Given the description of an element on the screen output the (x, y) to click on. 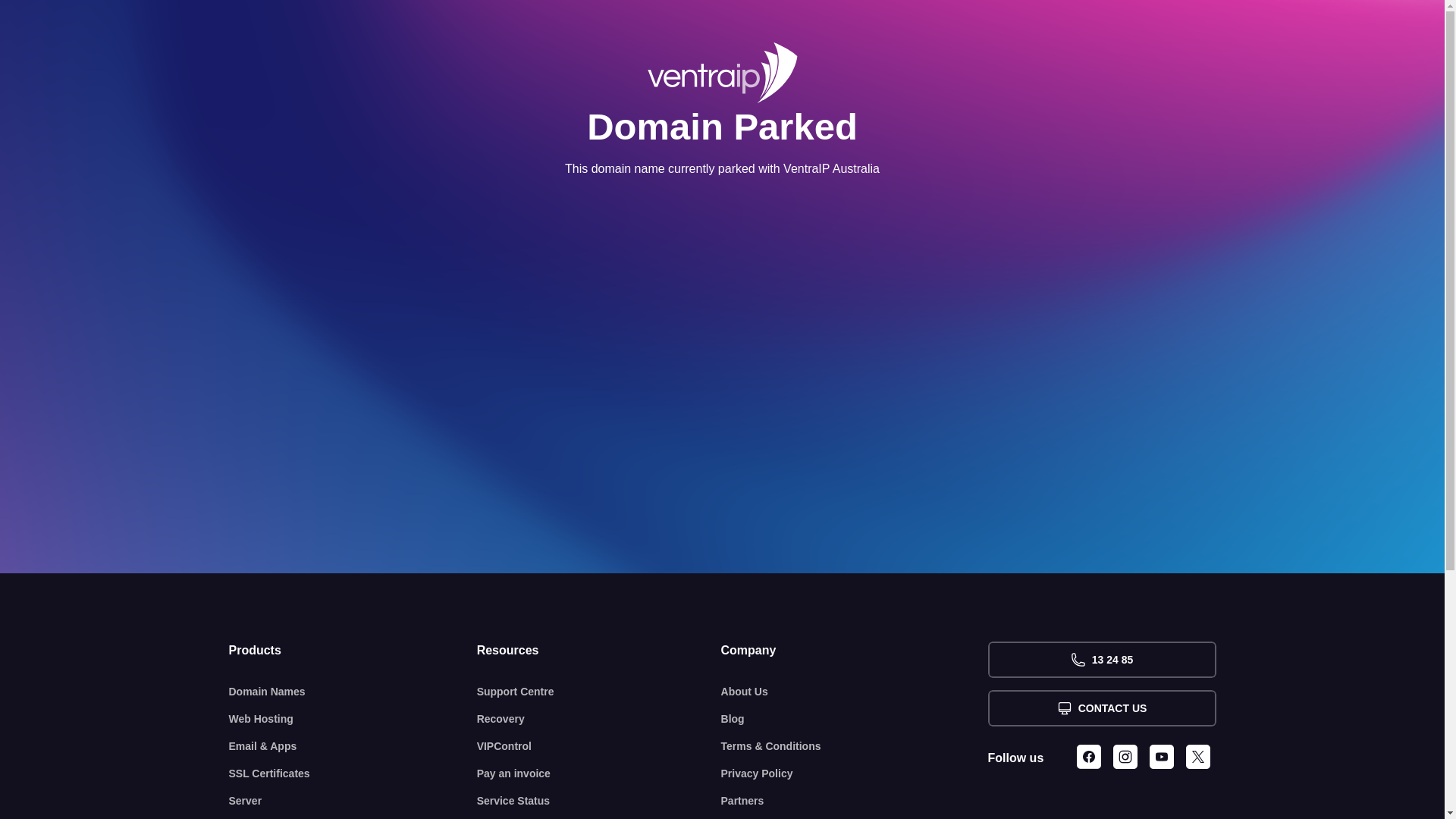
CONTACT US Element type: text (1101, 708)
Terms & Conditions Element type: text (854, 745)
Server Element type: text (352, 800)
SSL Certificates Element type: text (352, 773)
Service Status Element type: text (598, 800)
Pay an invoice Element type: text (598, 773)
Partners Element type: text (854, 800)
Blog Element type: text (854, 718)
Web Hosting Element type: text (352, 718)
Domain Names Element type: text (352, 691)
VIPControl Element type: text (598, 745)
About Us Element type: text (854, 691)
Support Centre Element type: text (598, 691)
Email & Apps Element type: text (352, 745)
Recovery Element type: text (598, 718)
Privacy Policy Element type: text (854, 773)
13 24 85 Element type: text (1101, 659)
